Given the description of an element on the screen output the (x, y) to click on. 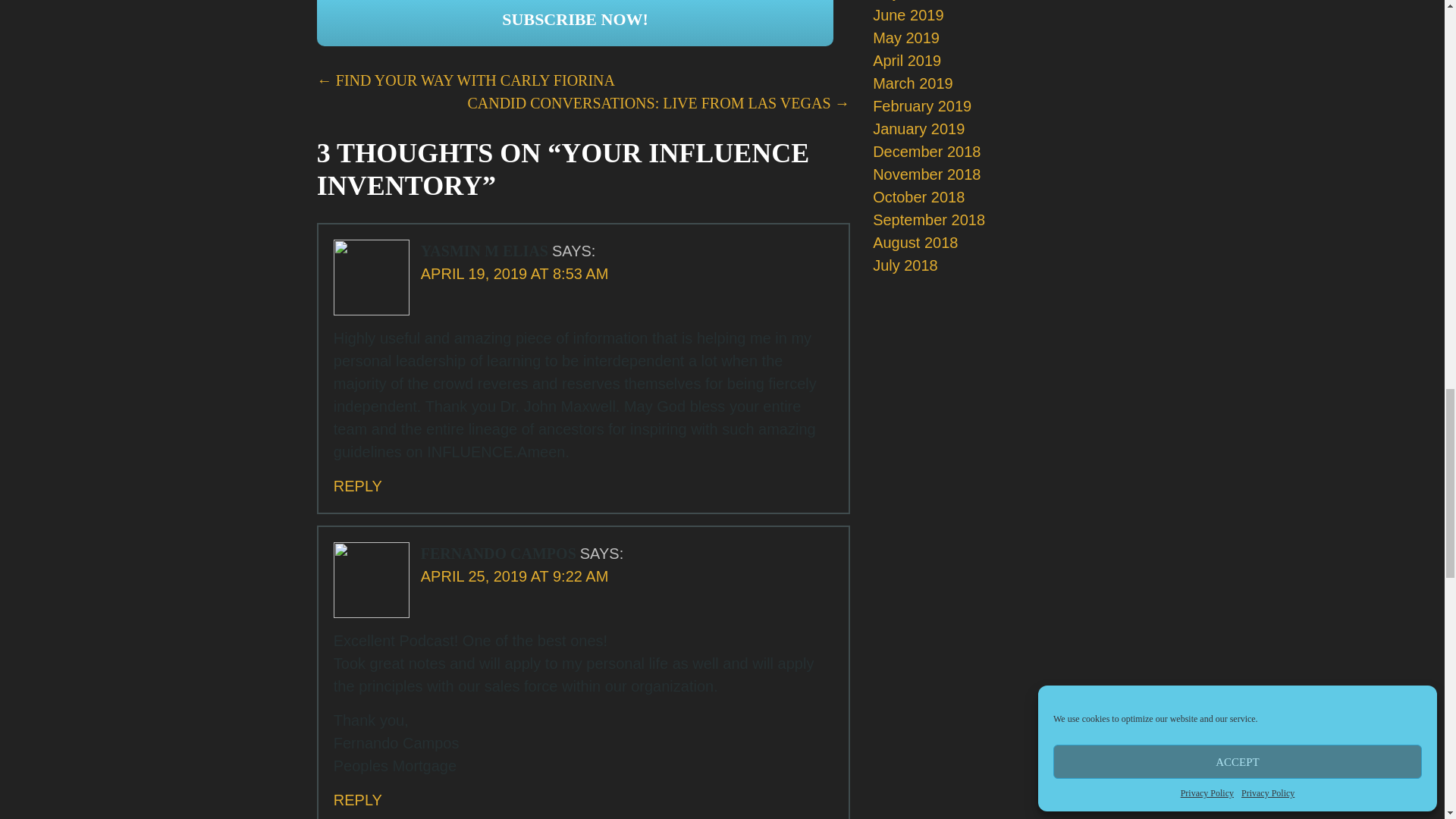
APRIL 25, 2019 AT 9:22 AM (514, 576)
APRIL 19, 2019 AT 8:53 AM (514, 273)
REPLY (357, 799)
SUBSCRIBE NOW! (575, 22)
REPLY (357, 485)
